Given the description of an element on the screen output the (x, y) to click on. 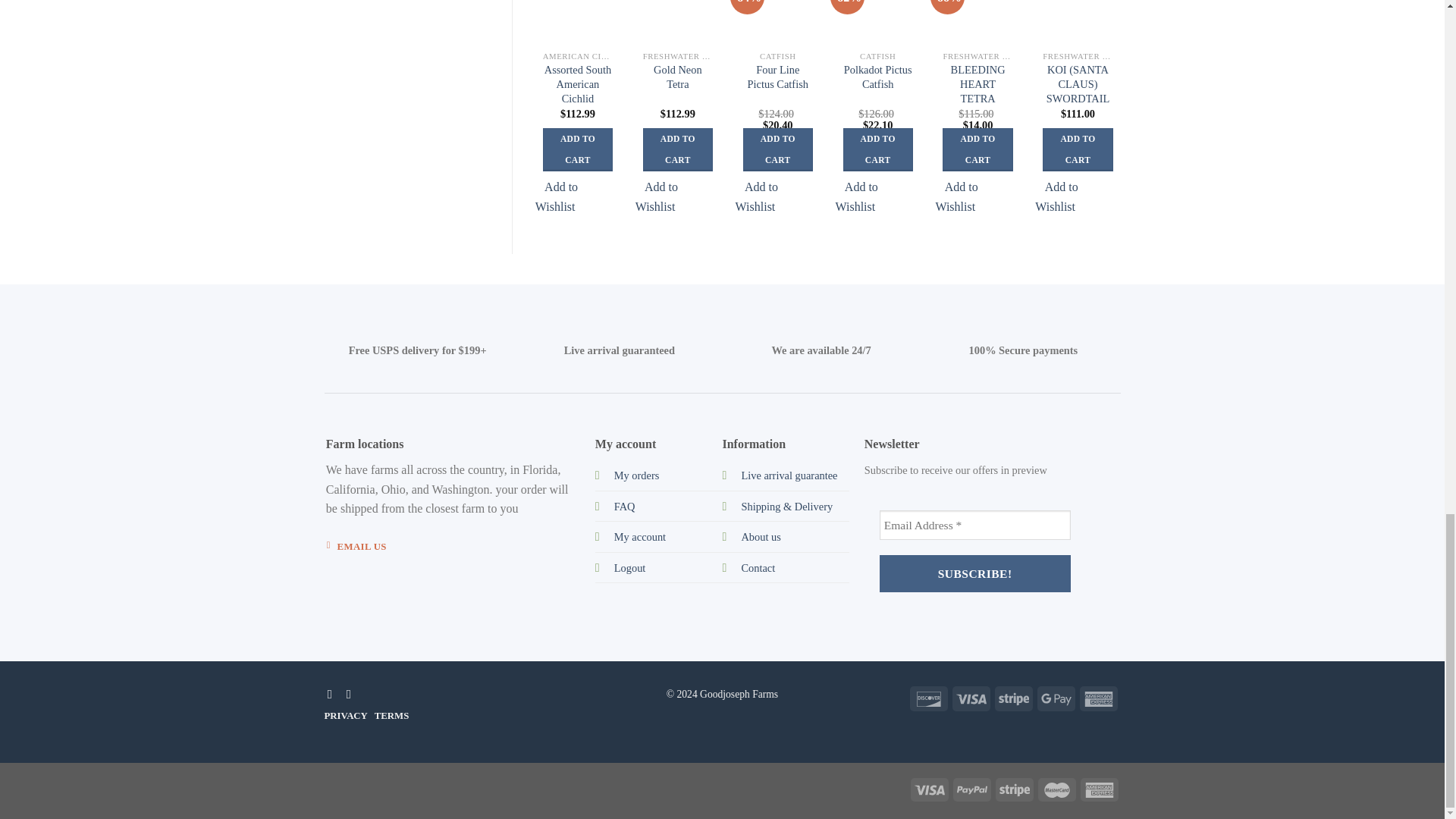
Subscribe! (974, 573)
